Given the description of an element on the screen output the (x, y) to click on. 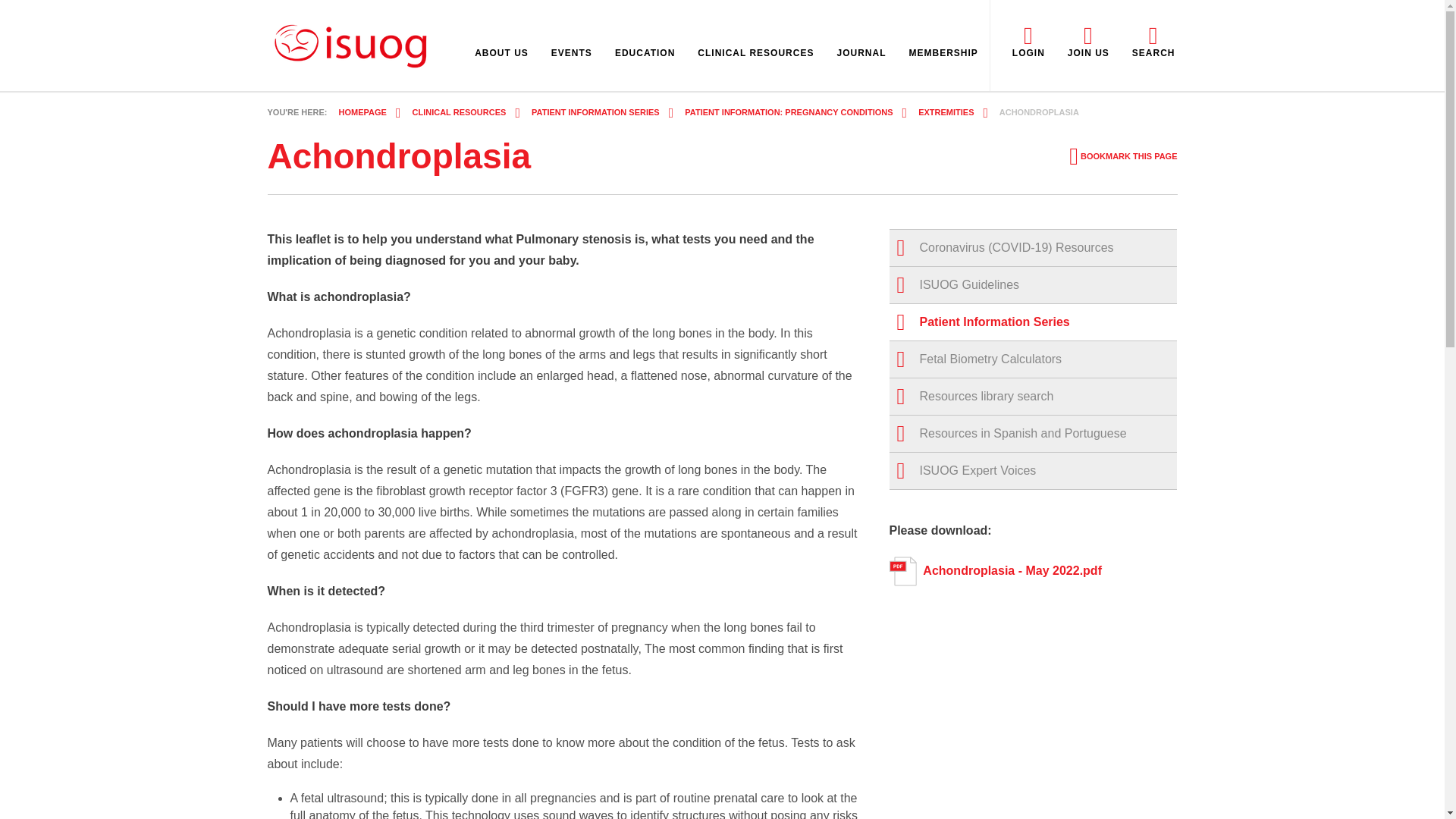
ABOUT US (501, 52)
EVENTS (571, 52)
EDUCATION (644, 52)
CLINICAL RESOURCES (755, 52)
